Given the description of an element on the screen output the (x, y) to click on. 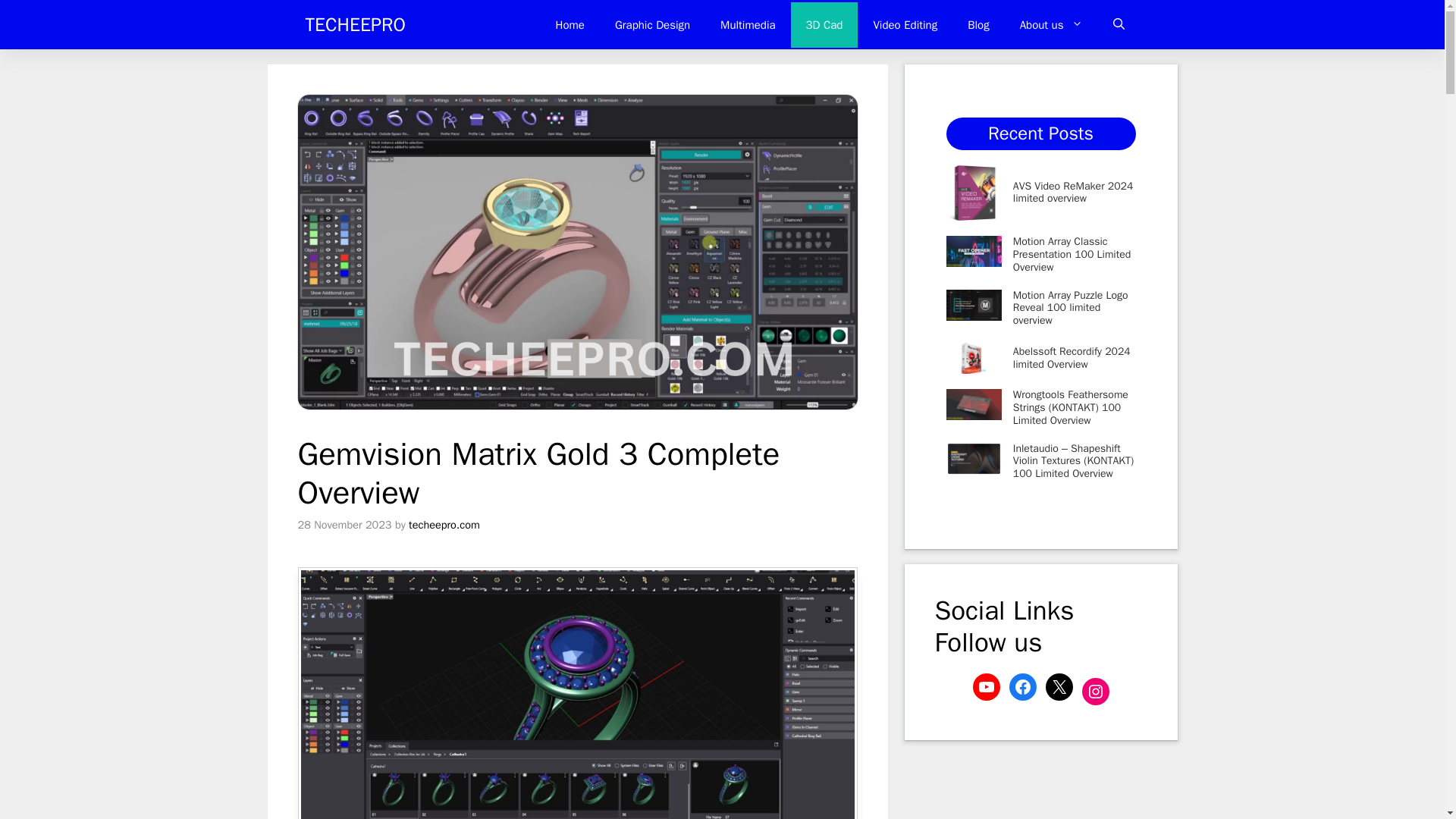
Graphic Design (651, 23)
Multimedia (747, 23)
View all posts by techeepro.com (444, 524)
Blog (978, 23)
TECHEEPRO (354, 24)
techeepro.com (444, 524)
Video Editing (904, 23)
3D Cad (824, 23)
About us (1050, 23)
Home (569, 23)
